Given the description of an element on the screen output the (x, y) to click on. 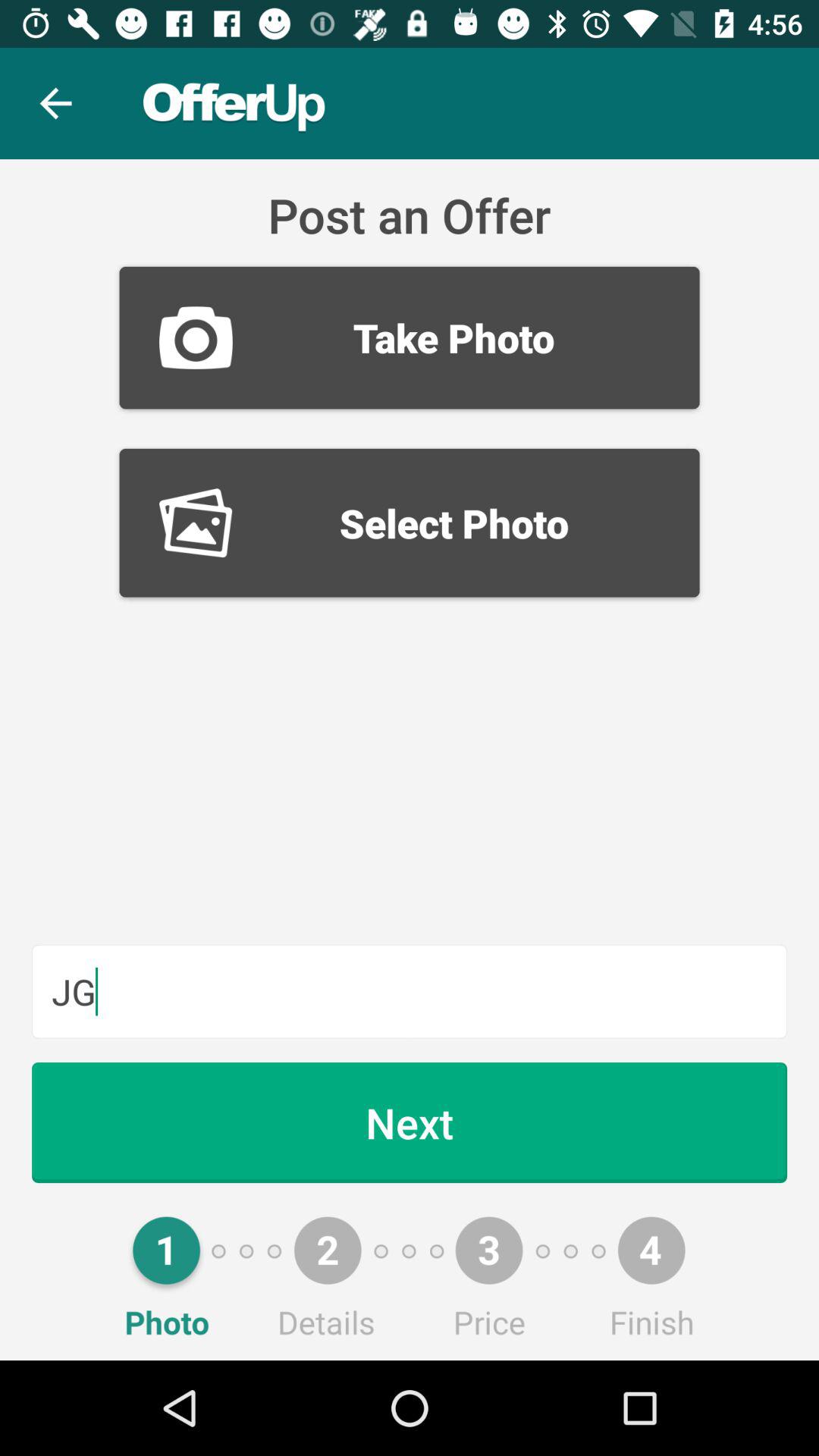
scroll to next (409, 1122)
